Given the description of an element on the screen output the (x, y) to click on. 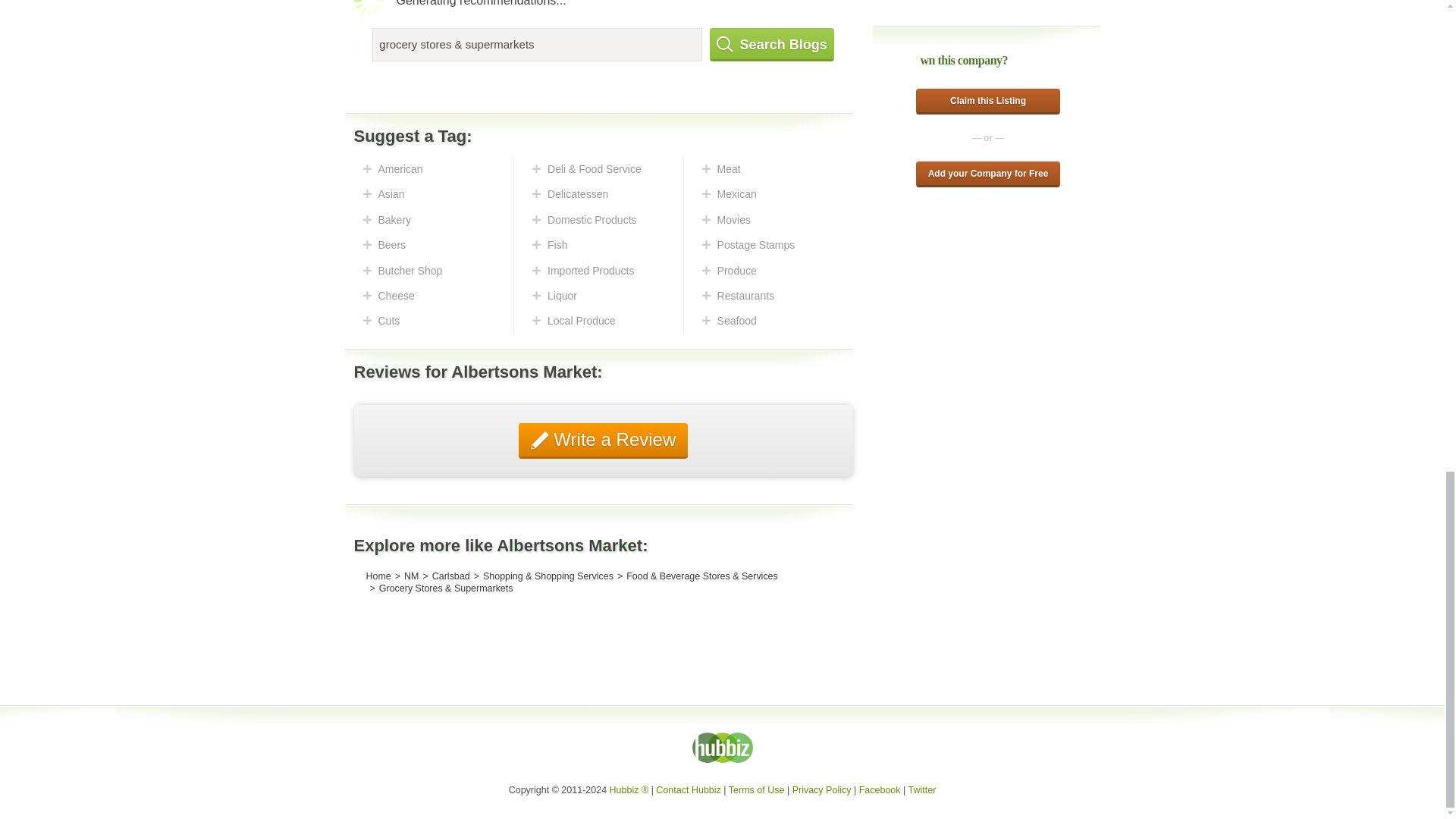
Claim this Listing (987, 101)
Privacy Policy (821, 789)
Contact Hubbiz (688, 789)
Add your Company for Free (987, 174)
Terms of Use (756, 789)
Carlsbad (451, 576)
Write a Review (603, 440)
NM (411, 576)
Home (377, 576)
